Given the description of an element on the screen output the (x, y) to click on. 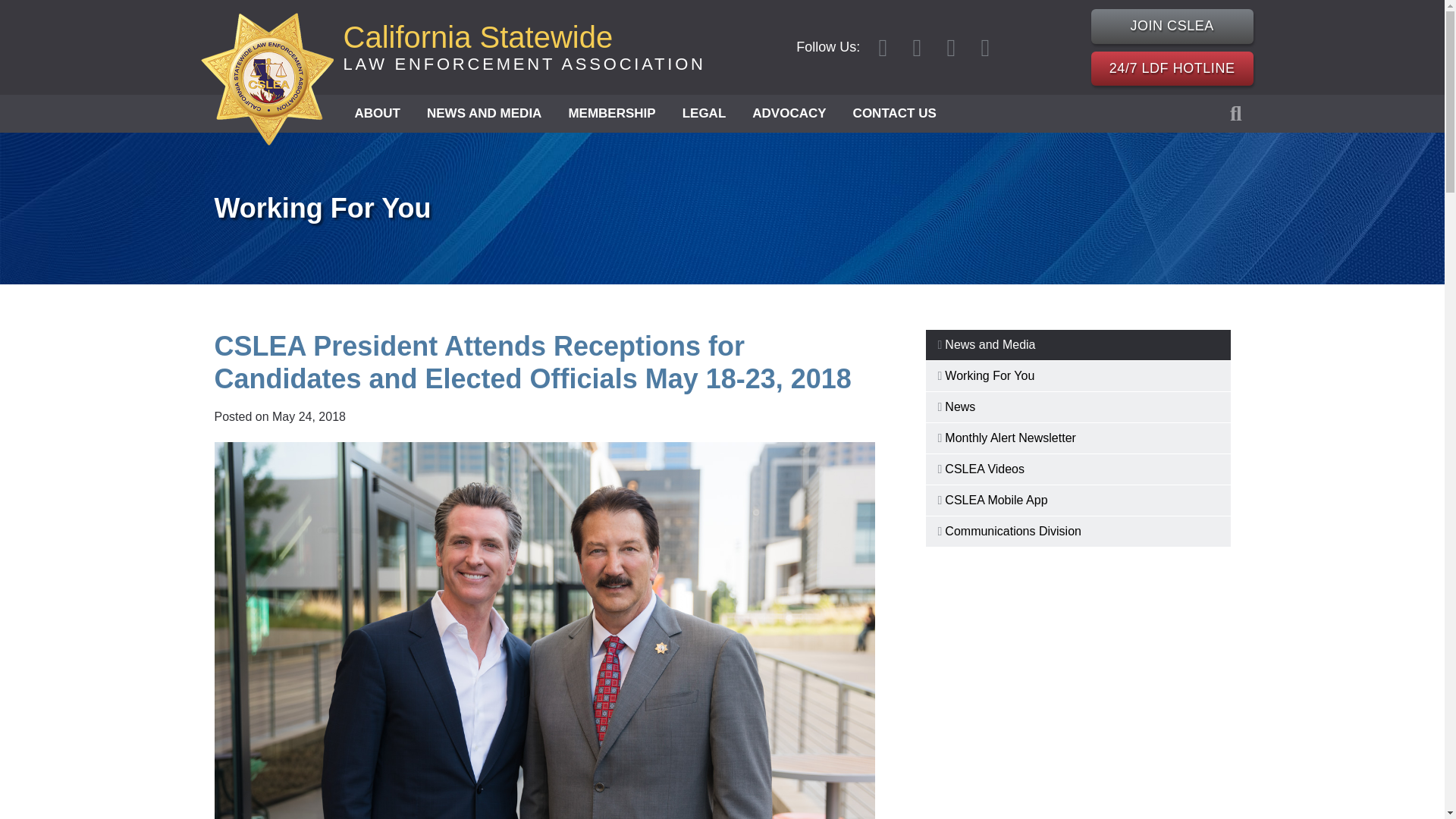
ABOUT (523, 47)
Skip to primary navigation (376, 113)
NEWS AND MEDIA (1171, 26)
MEMBERSHIP (483, 113)
